Given the description of an element on the screen output the (x, y) to click on. 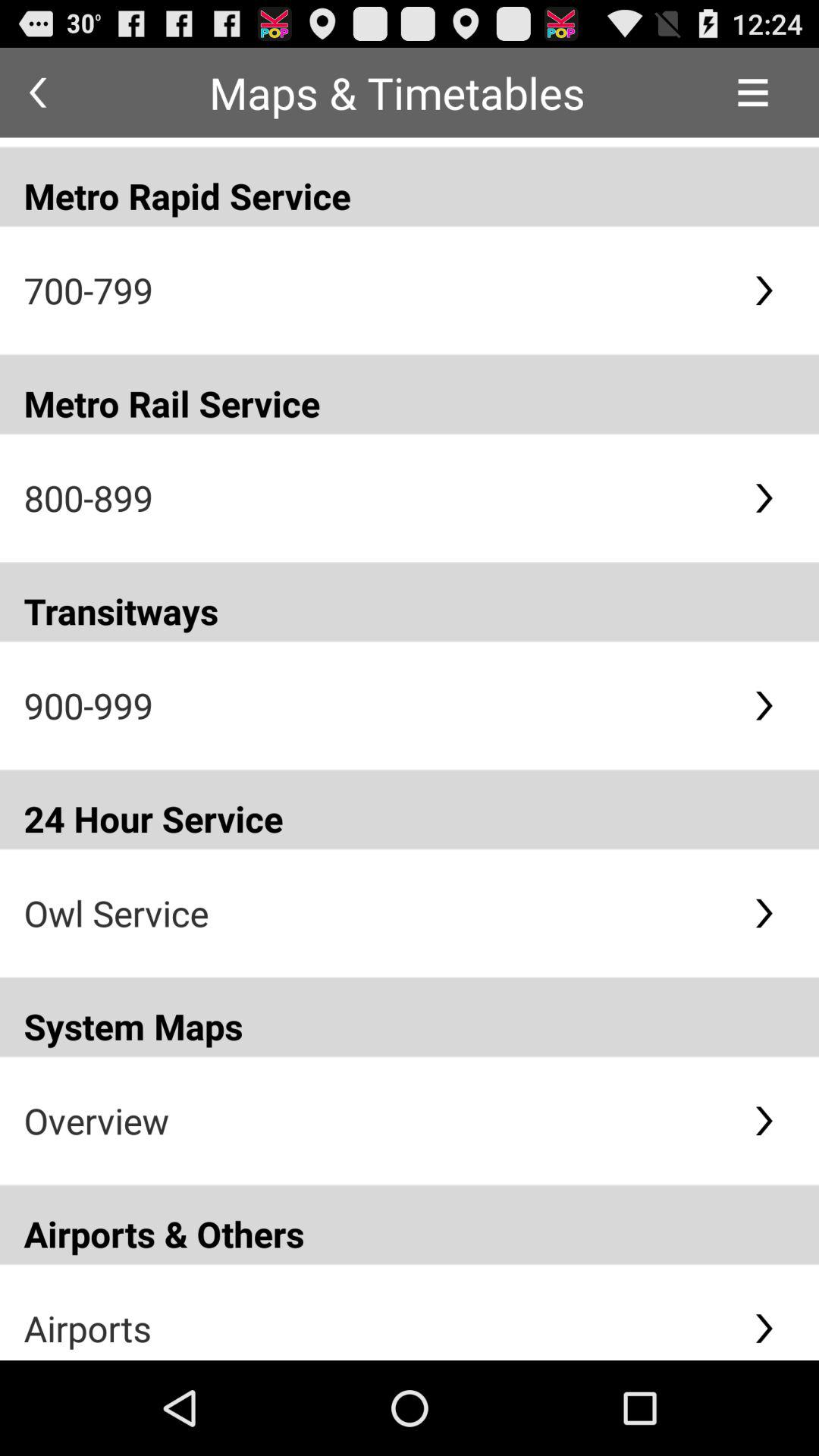
tap the icon to the right of maps & timetables icon (752, 92)
